Given the description of an element on the screen output the (x, y) to click on. 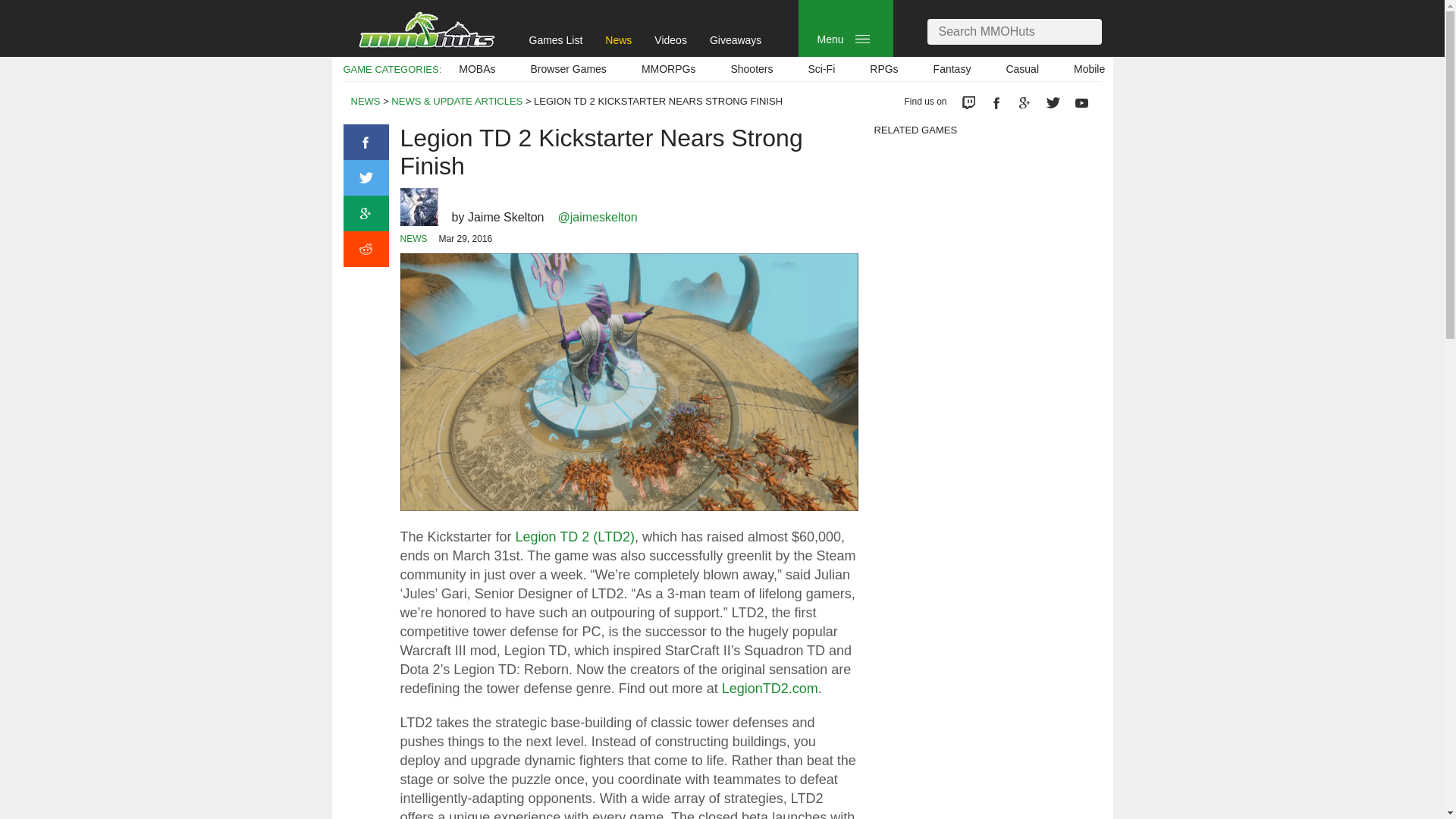
Go to All Games (556, 39)
NEWS (365, 101)
RPGs (883, 69)
Games List (556, 39)
Giveaways (735, 39)
News (618, 39)
Search MMOHuts - 4 chars search query required. (1013, 31)
Visit the MOBA Games List (476, 69)
Main Menu (862, 39)
Visit the Browser Games List (569, 69)
LEGION TD 2 KICKSTARTER NEARS STRONG FINISH (658, 101)
Browser Games (569, 69)
MMORPGs (668, 69)
Go to All Videos (670, 39)
Jaime Skelton (505, 216)
